Given the description of an element on the screen output the (x, y) to click on. 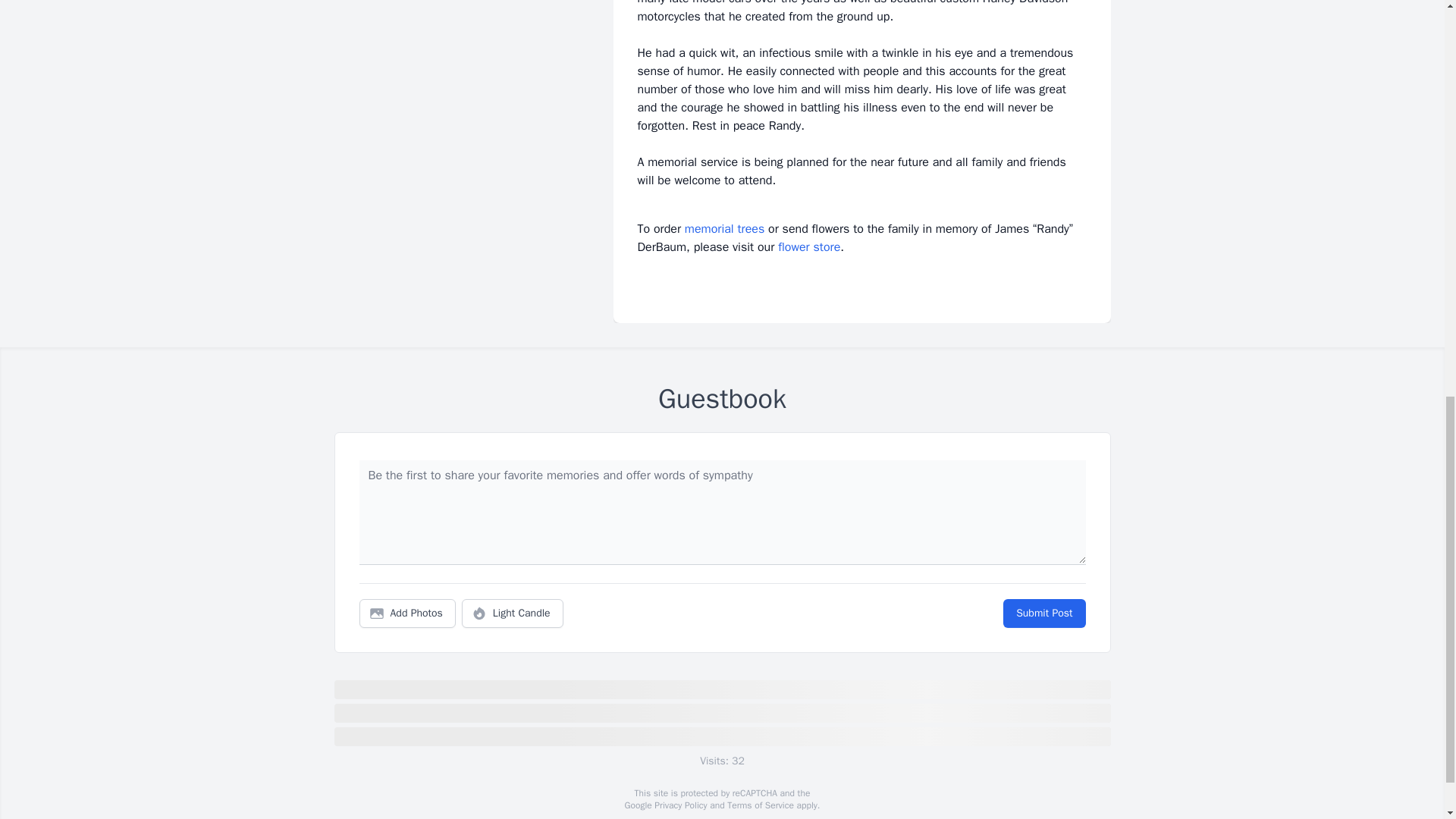
Add Photos (407, 613)
flower store (808, 246)
Privacy Policy (679, 805)
Terms of Service (759, 805)
Submit Post (1043, 613)
memorial trees (724, 228)
Light Candle (512, 613)
